Given the description of an element on the screen output the (x, y) to click on. 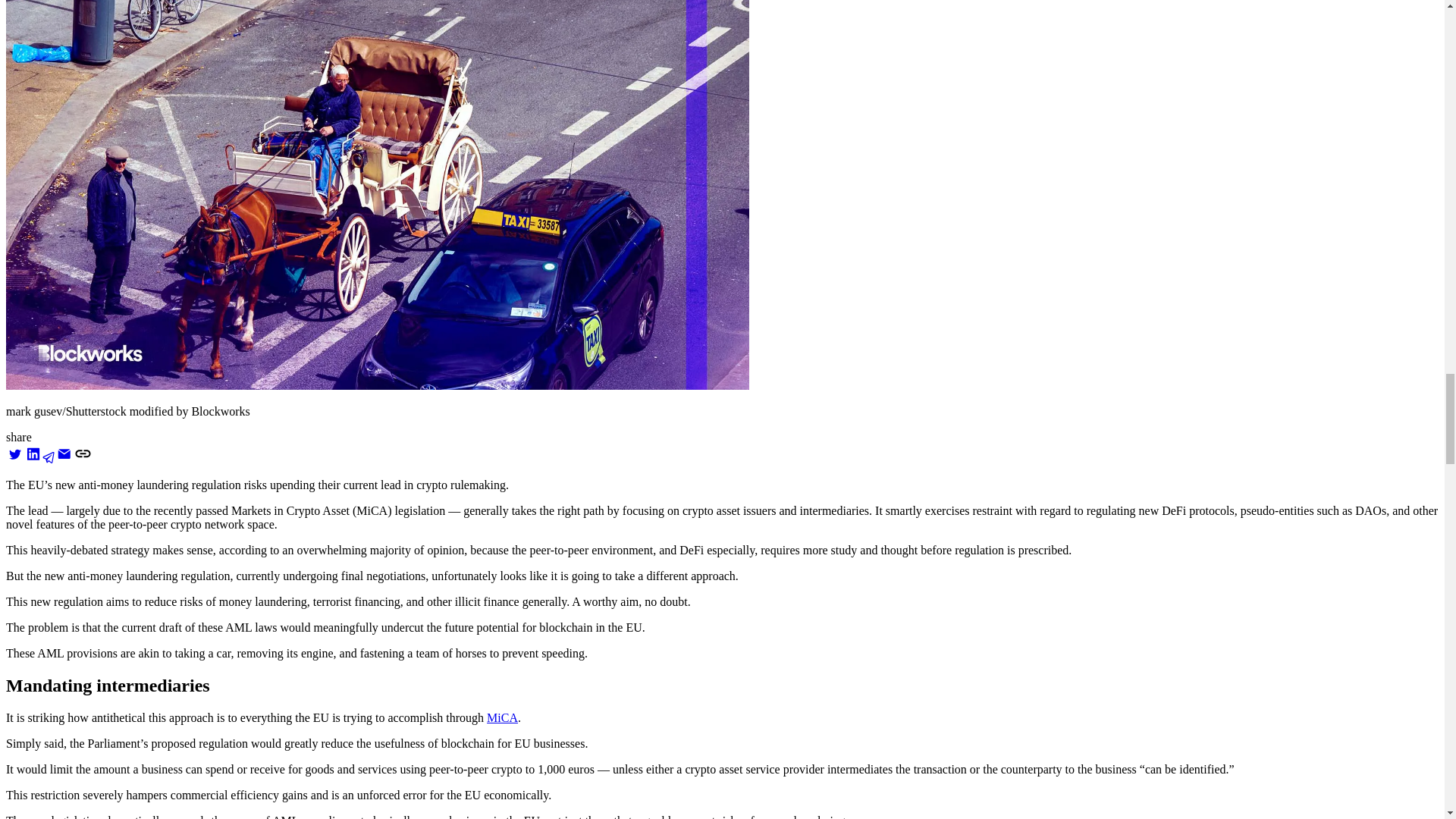
MiCA (502, 717)
